Given the description of an element on the screen output the (x, y) to click on. 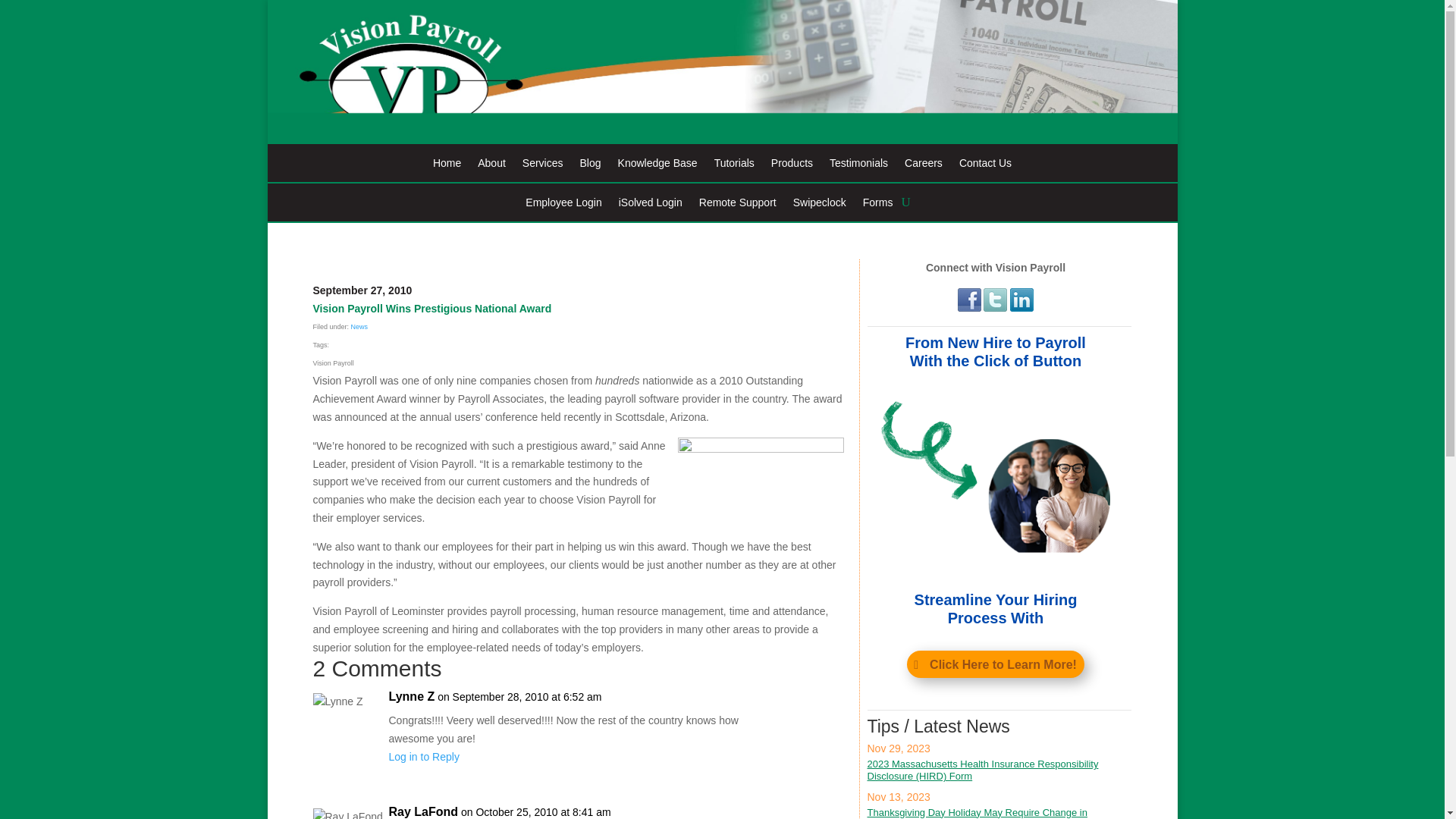
visionpayrollbanner (721, 72)
About (491, 166)
News (359, 326)
Swipeclock (819, 205)
Knowledge Base (657, 166)
sidebarimage (996, 481)
Services (542, 166)
Careers (923, 166)
Forms (878, 205)
Blog (590, 166)
